Given the description of an element on the screen output the (x, y) to click on. 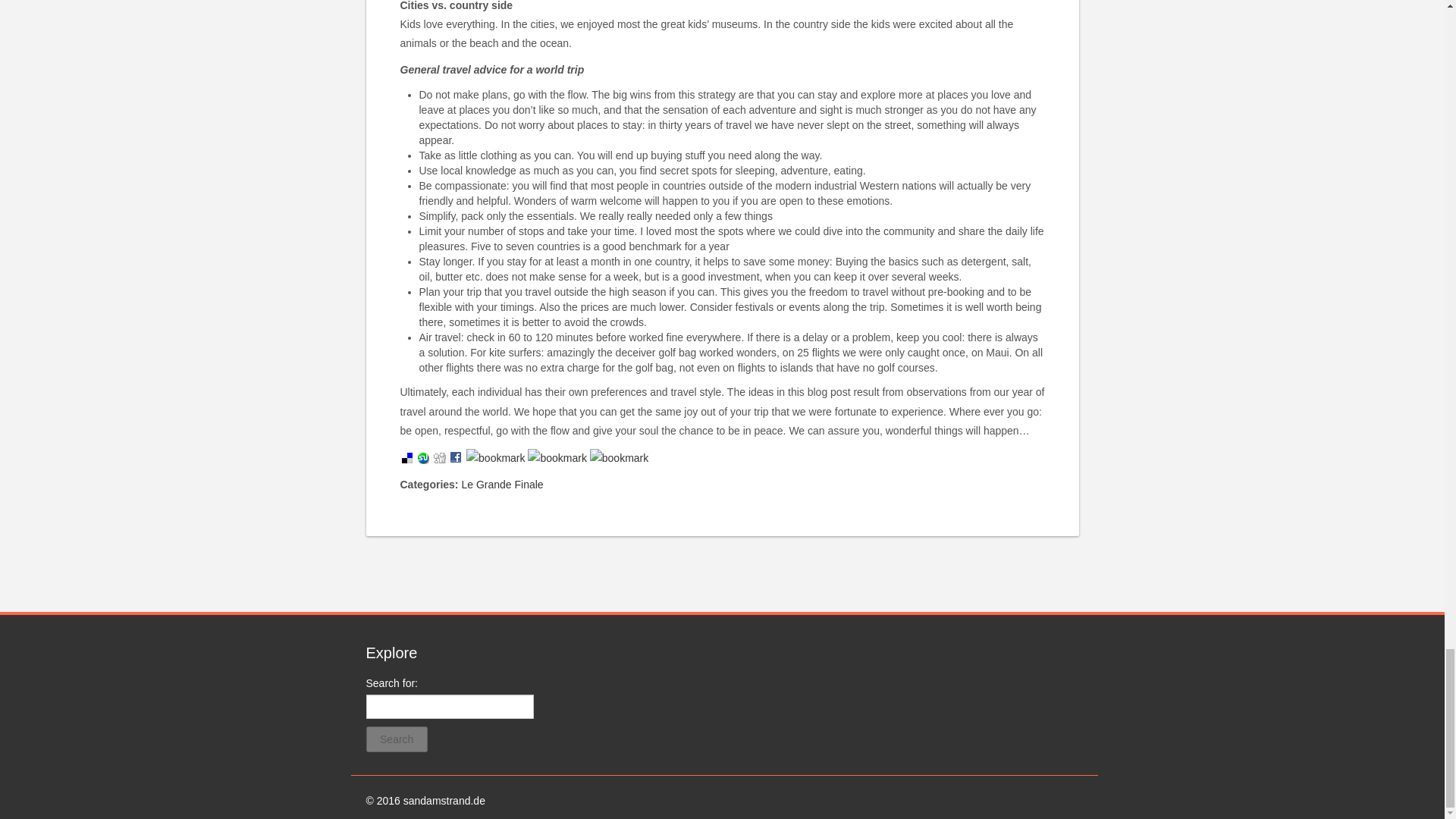
mister-wong.de (556, 457)
linkedin.com (494, 457)
stumbleupon.com (422, 457)
www.facebook.com (456, 457)
Search (395, 739)
del.icio.us (406, 457)
digg.com (439, 457)
yigg.de (618, 457)
